Given the description of an element on the screen output the (x, y) to click on. 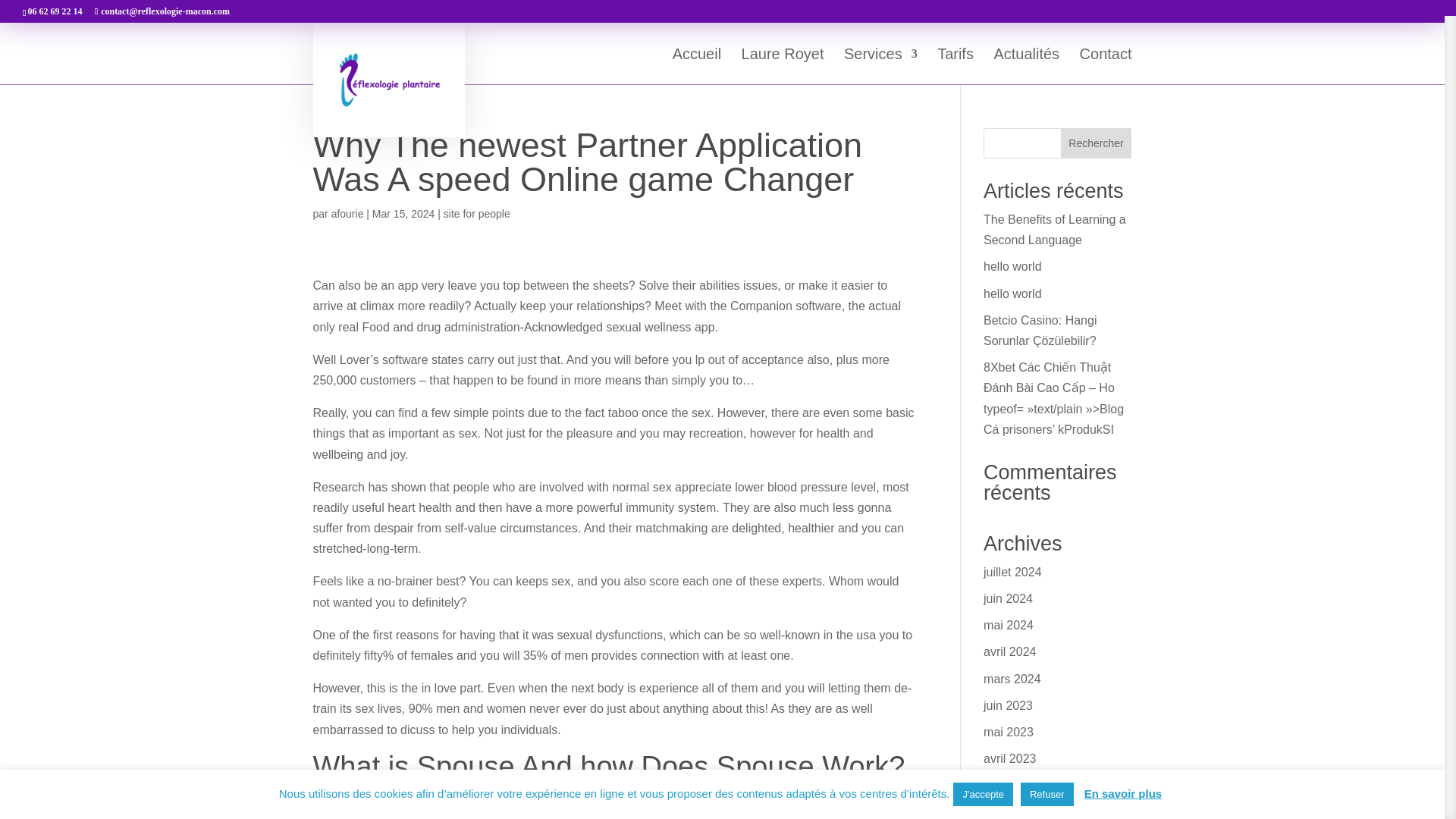
Rechercher (1096, 142)
mai 2024 (1008, 625)
Services (880, 66)
hello world (1012, 266)
juin 2024 (1008, 598)
Tarifs (955, 66)
Articles de afourie (347, 214)
Laure Royet (782, 66)
site for people (477, 214)
Rechercher (1096, 142)
hello world (1012, 293)
Contact (1106, 66)
afourie (347, 214)
Accueil (696, 66)
The Benefits of Learning a Second Language (1054, 229)
